Given the description of an element on the screen output the (x, y) to click on. 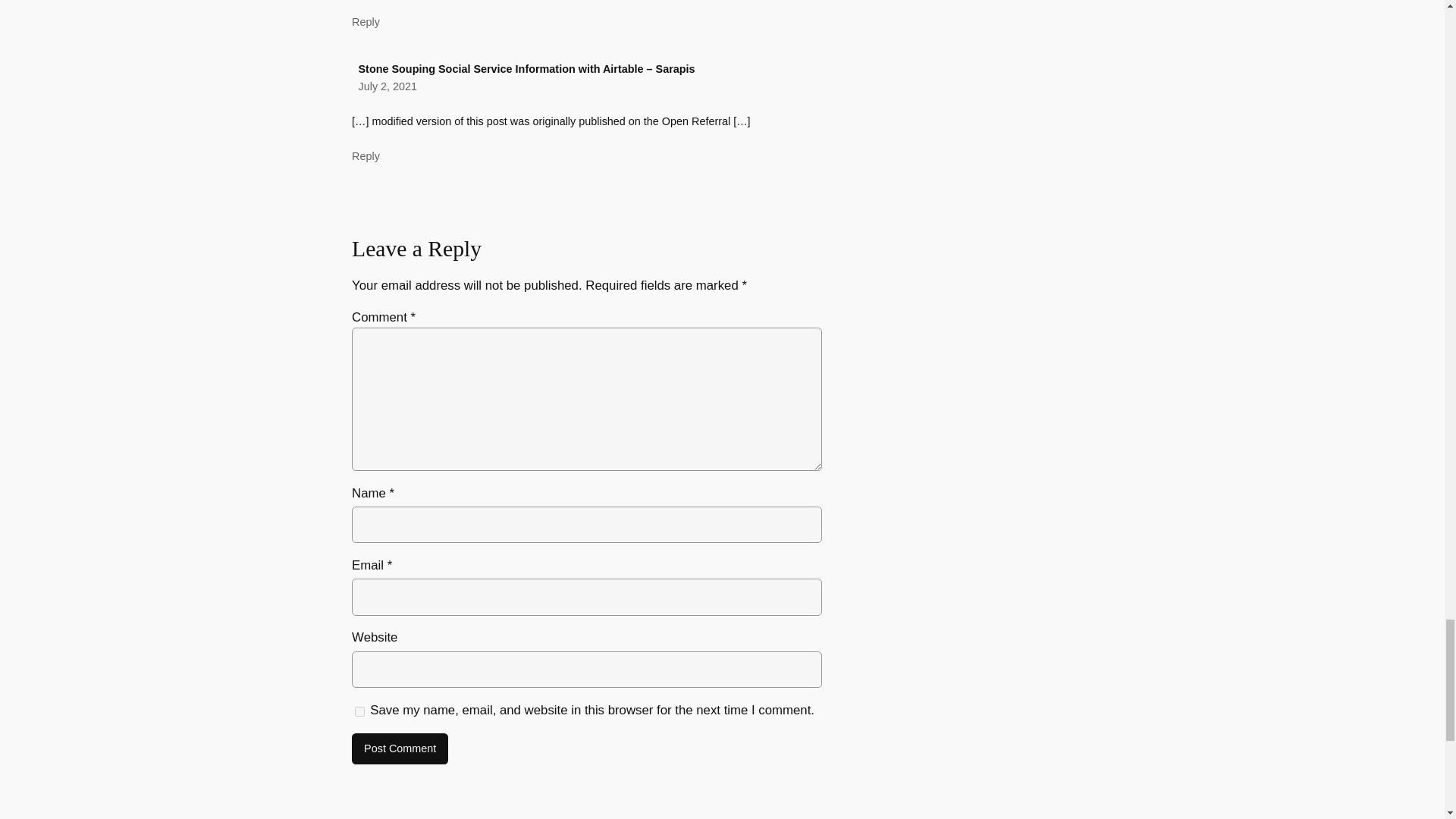
Post Comment (400, 748)
